Given the description of an element on the screen output the (x, y) to click on. 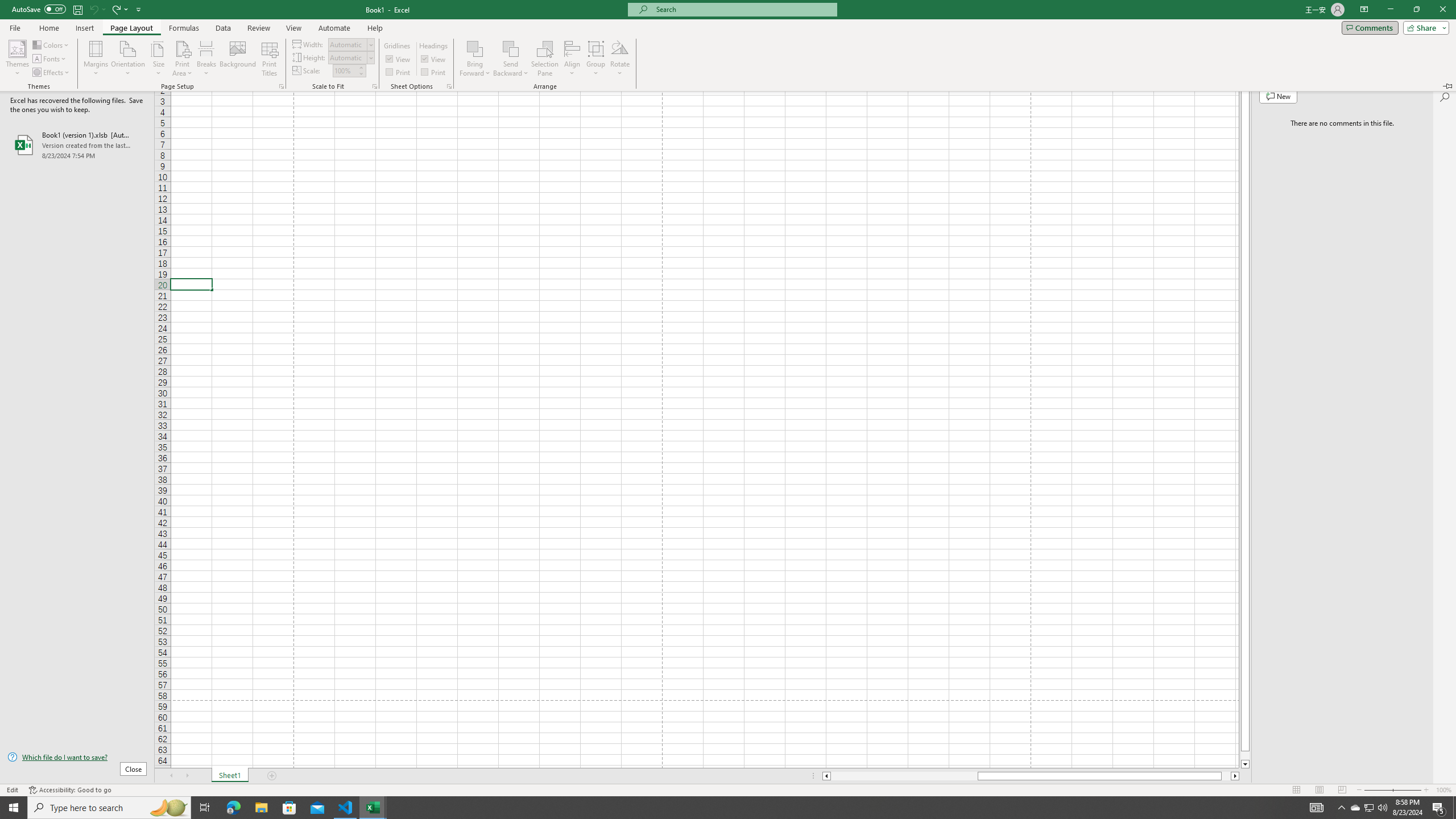
Book1 (version 1).xlsb  [AutoRecovered] (77, 144)
AutomationID: 4105 (1316, 807)
Excel - 2 running windows (1368, 807)
Visual Studio Code - 1 running window (373, 807)
Page left (345, 807)
